Given the description of an element on the screen output the (x, y) to click on. 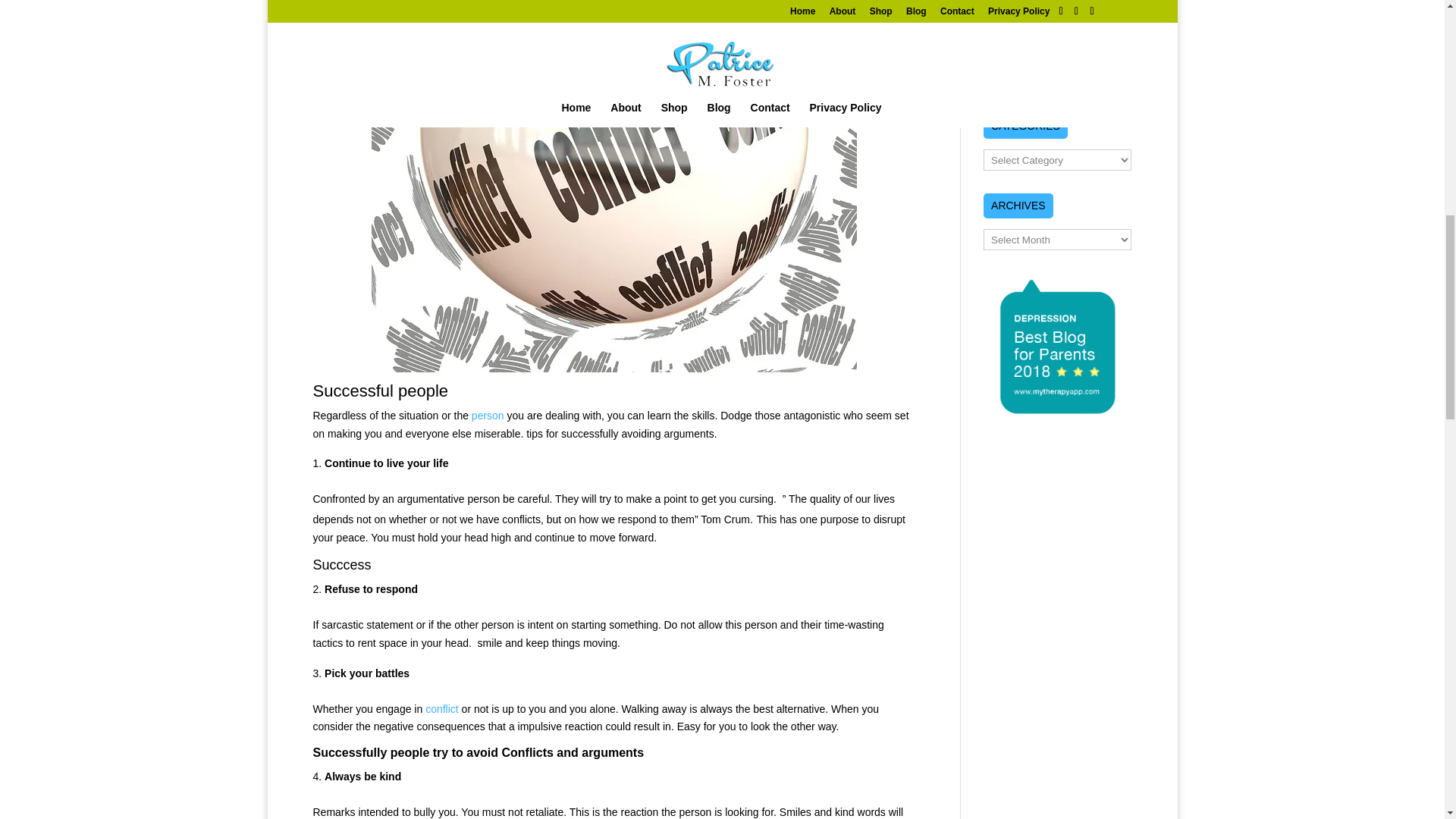
Person (487, 415)
conflict (441, 708)
Organizational conflict (441, 708)
person (487, 415)
